Given the description of an element on the screen output the (x, y) to click on. 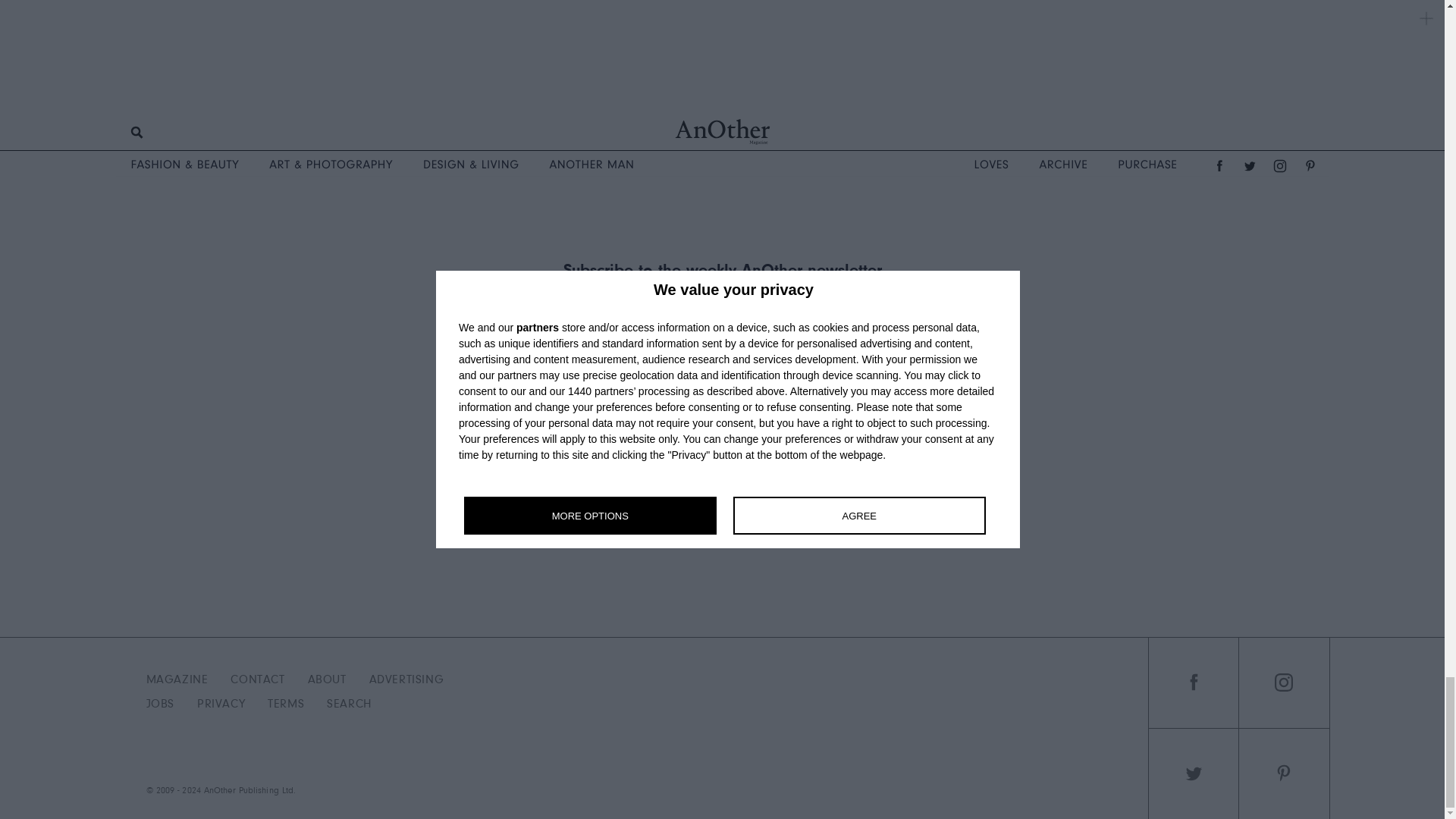
Subscribe (721, 401)
Y (849, 363)
